Given the description of an element on the screen output the (x, y) to click on. 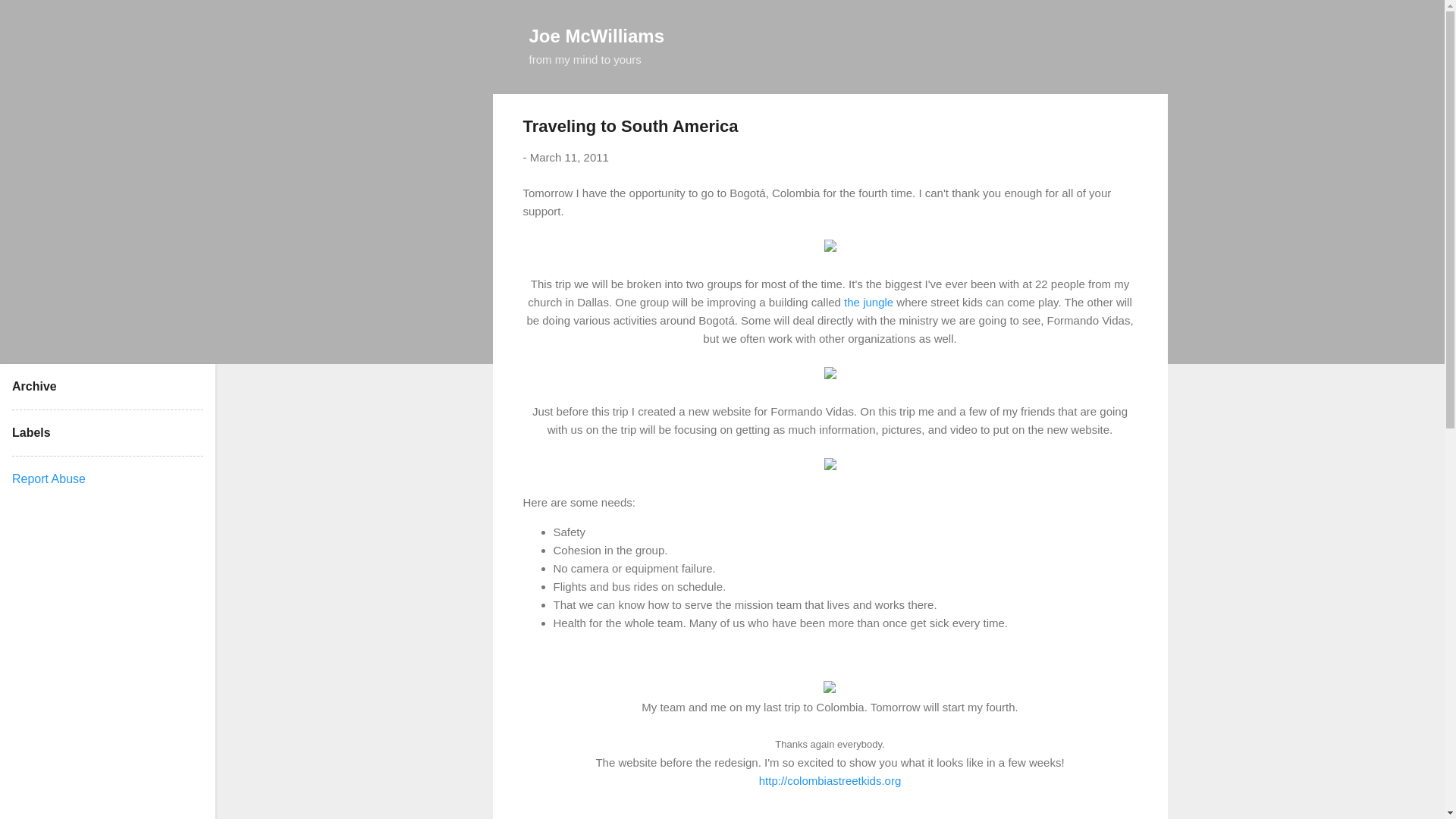
March 11, 2011 (568, 156)
Joe McWilliams (597, 35)
permanent link (568, 156)
Search (29, 18)
the jungle (868, 301)
